Given the description of an element on the screen output the (x, y) to click on. 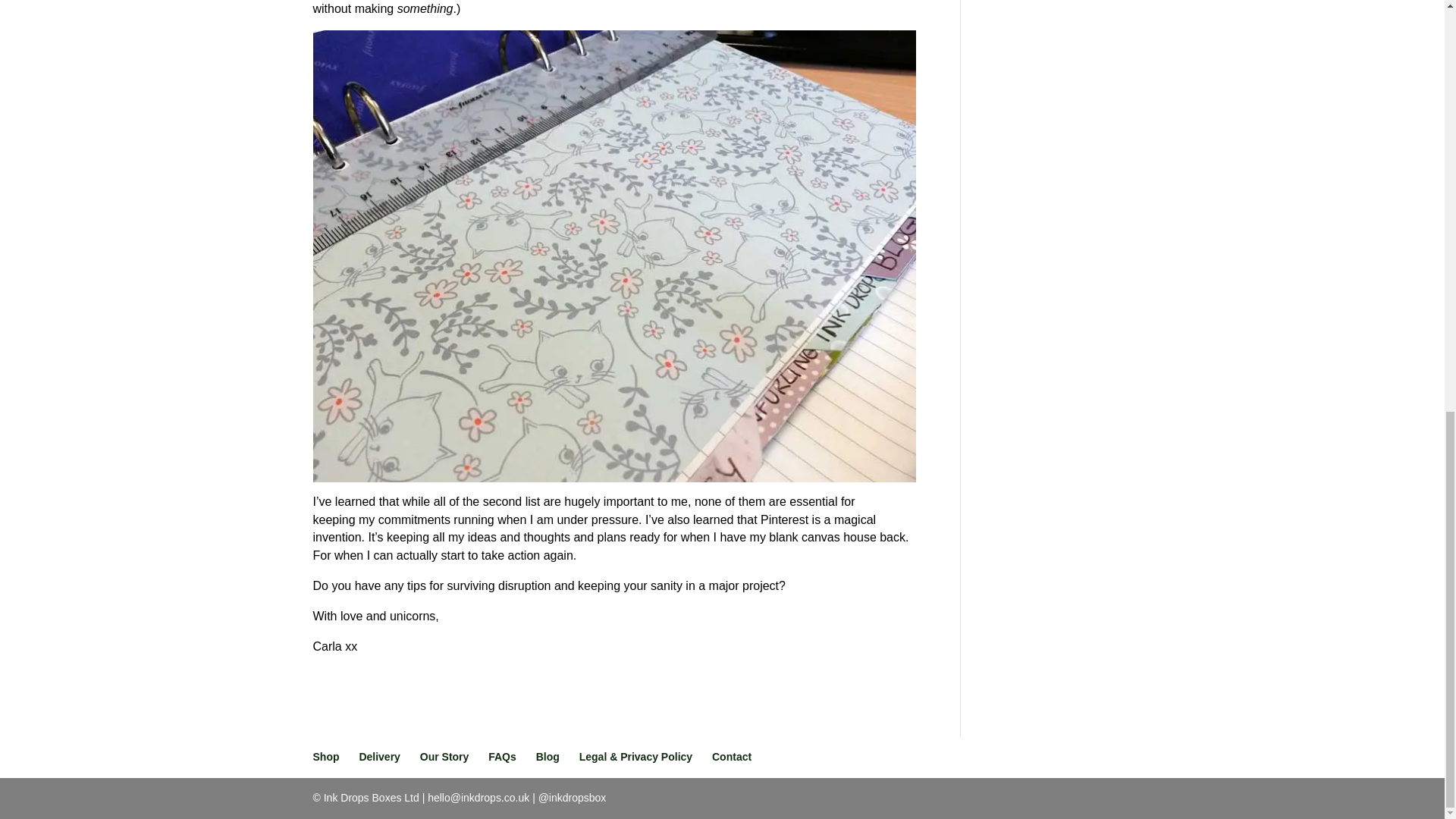
FAQs (501, 756)
Our Story (444, 756)
Delivery (378, 756)
Contact (731, 756)
Blog (547, 756)
Shop (326, 756)
